Given the description of an element on the screen output the (x, y) to click on. 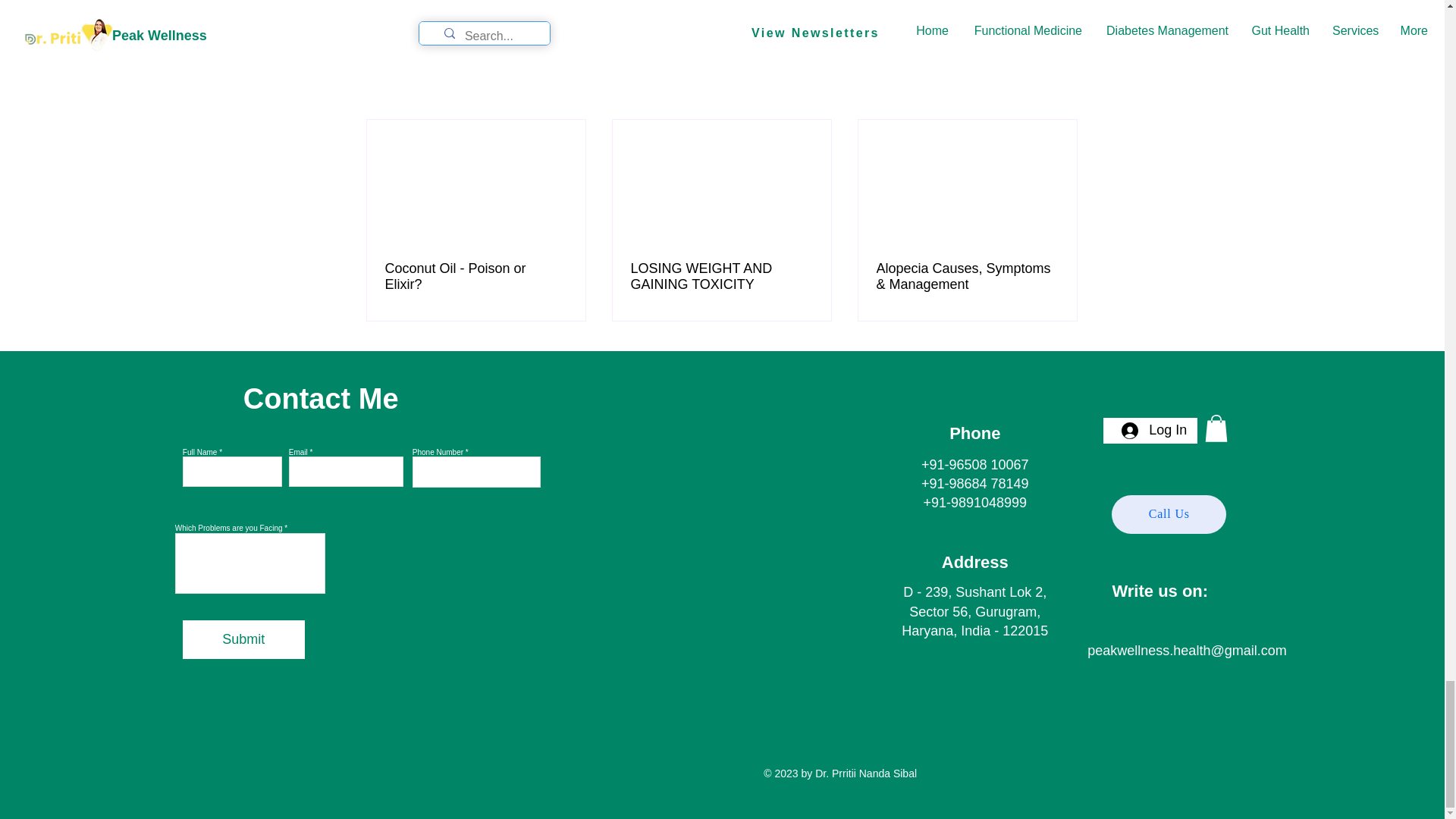
See All (1061, 92)
Coconut Oil - Poison or Elixir? (476, 276)
Diabetes (981, 0)
LOSING WEIGHT AND GAINING TOXICITY (721, 276)
